Given the description of an element on the screen output the (x, y) to click on. 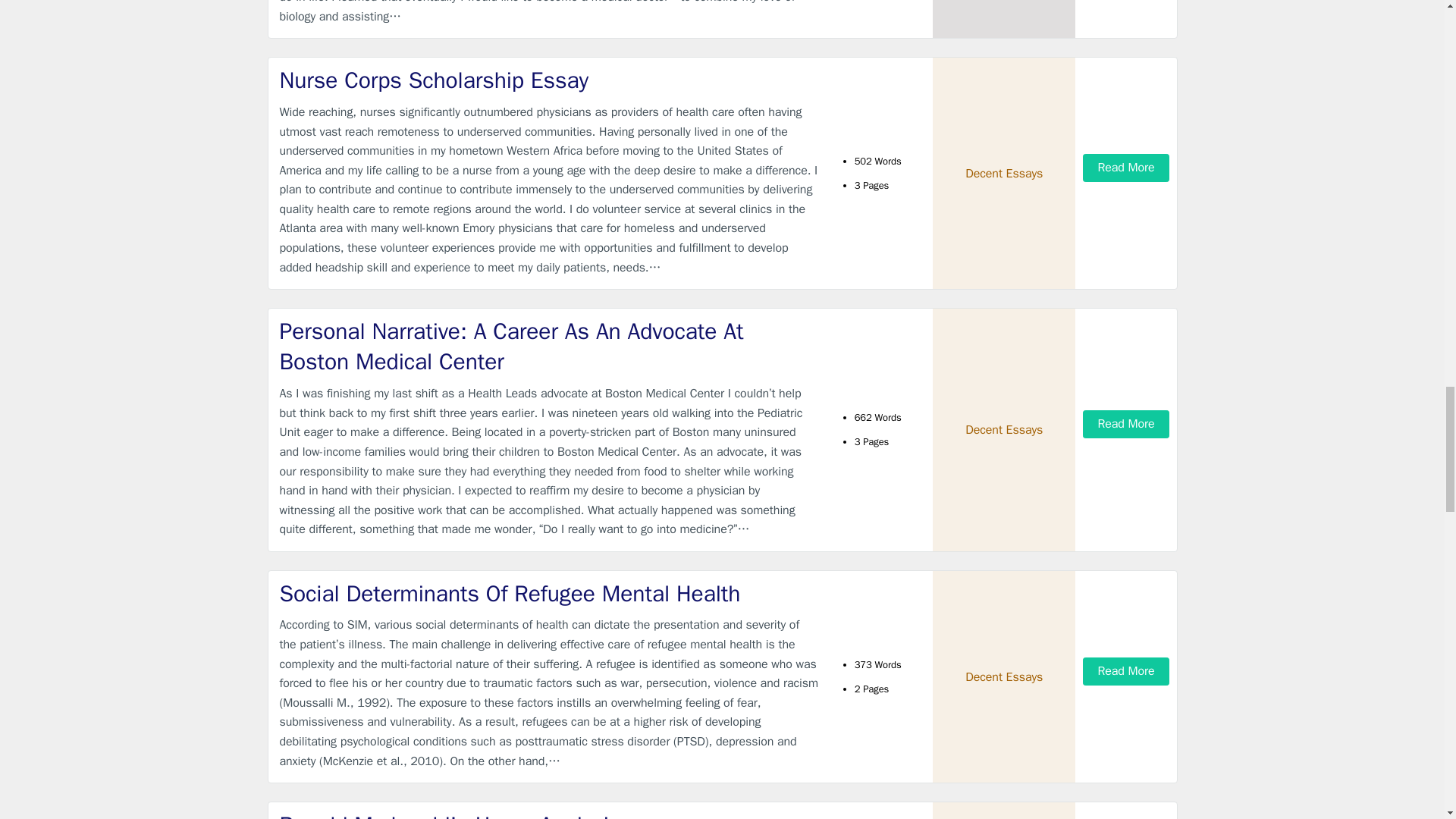
Read More (1126, 670)
Read More (1126, 167)
Read More (1126, 424)
Social Determinants Of Refugee Mental Health (548, 593)
Nurse Corps Scholarship Essay (548, 80)
